Given the description of an element on the screen output the (x, y) to click on. 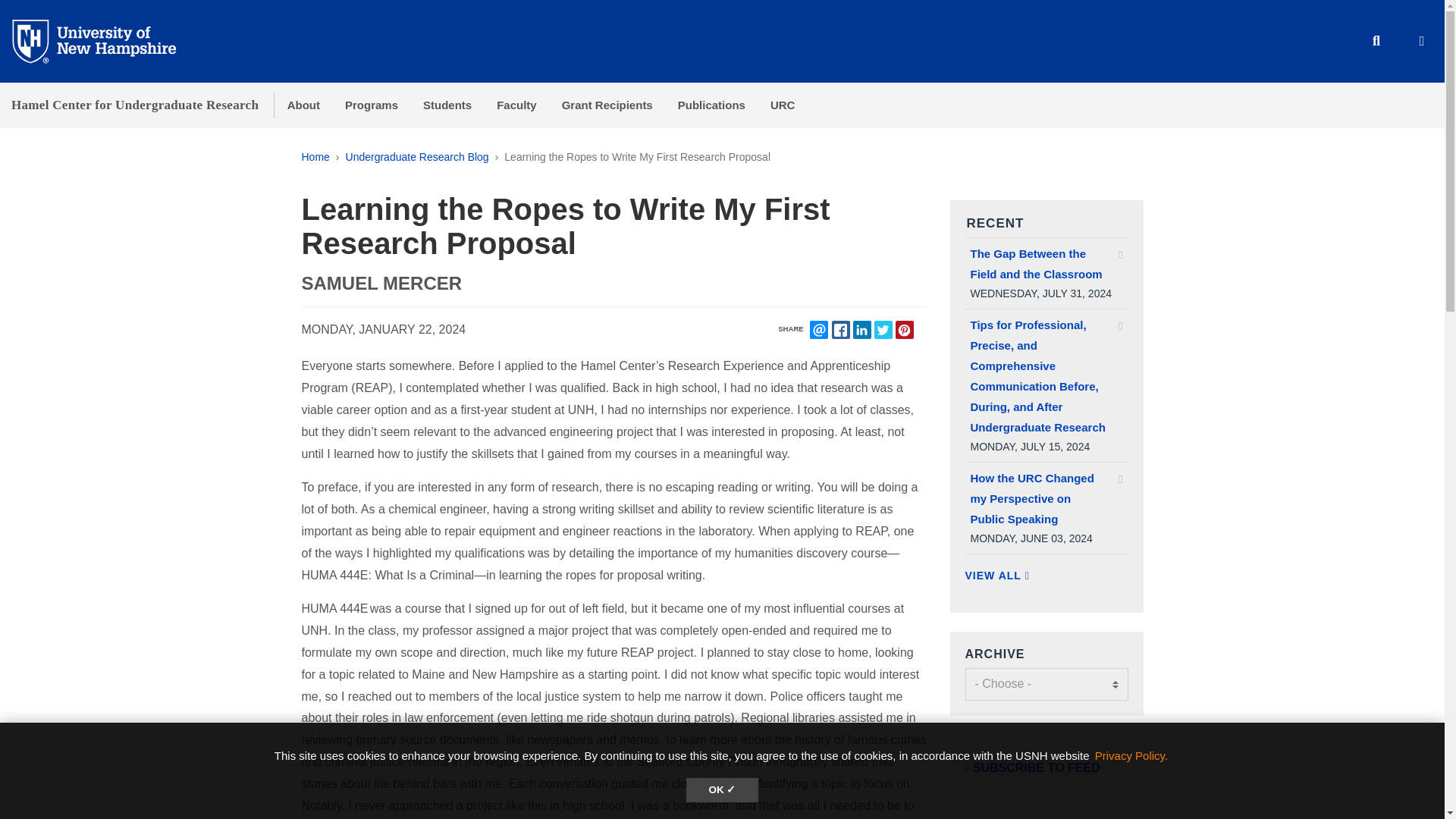
Programs (370, 104)
Faculty (517, 104)
Students (447, 104)
University of New Hampshire (105, 40)
About (303, 104)
Hamel Center for Undergraduate Research (135, 104)
Privacy Policy. (1131, 755)
Grant Recipients (606, 104)
